Given the description of an element on the screen output the (x, y) to click on. 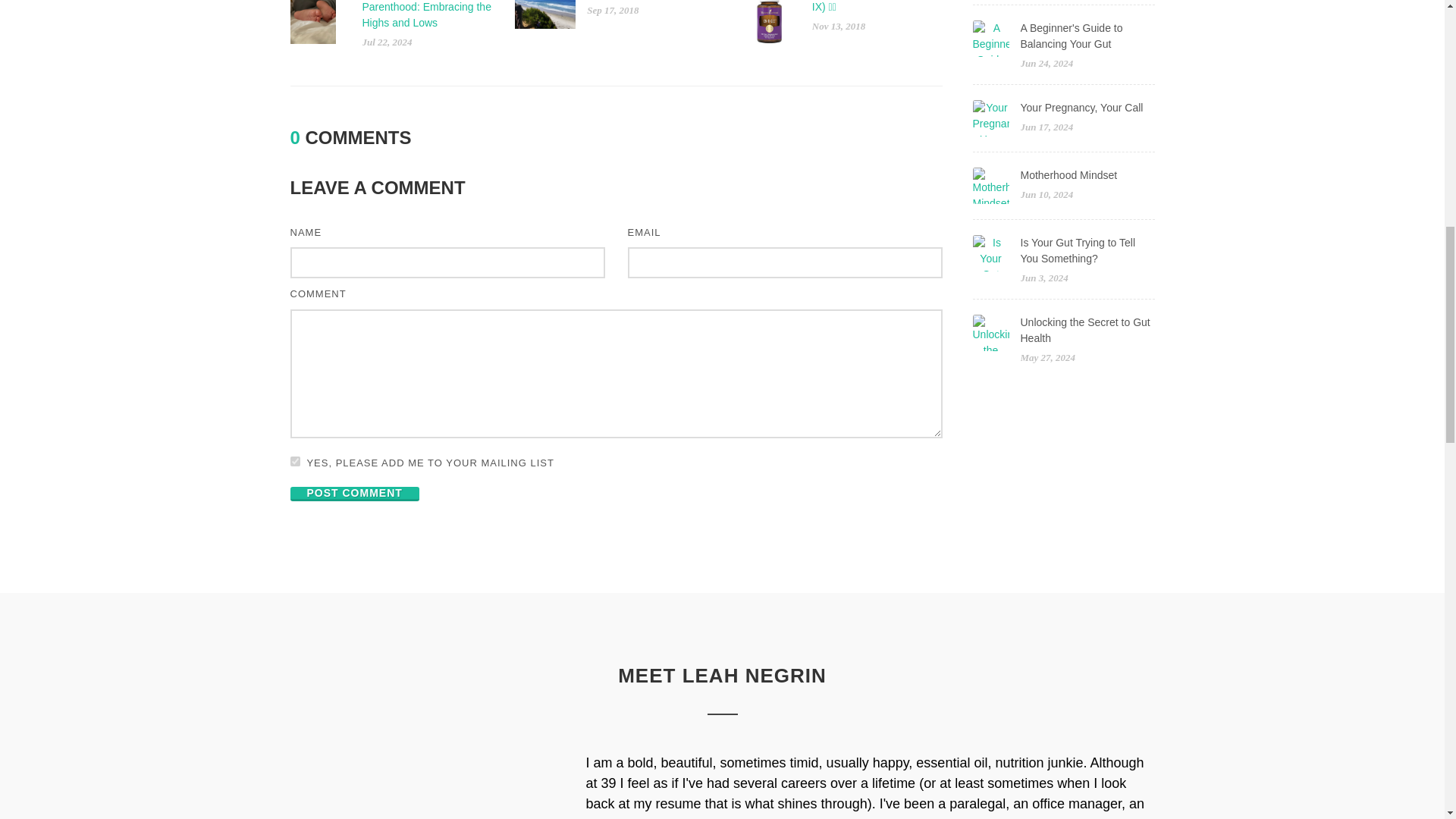
POST COMMENT (354, 493)
Sep 17, 2018 (612, 9)
Y (294, 461)
Nov 13, 2018 (838, 25)
Jul 22, 2024 (387, 41)
Finding Balance in Parenthood: Embracing the Highs and Lows (427, 14)
